Given the description of an element on the screen output the (x, y) to click on. 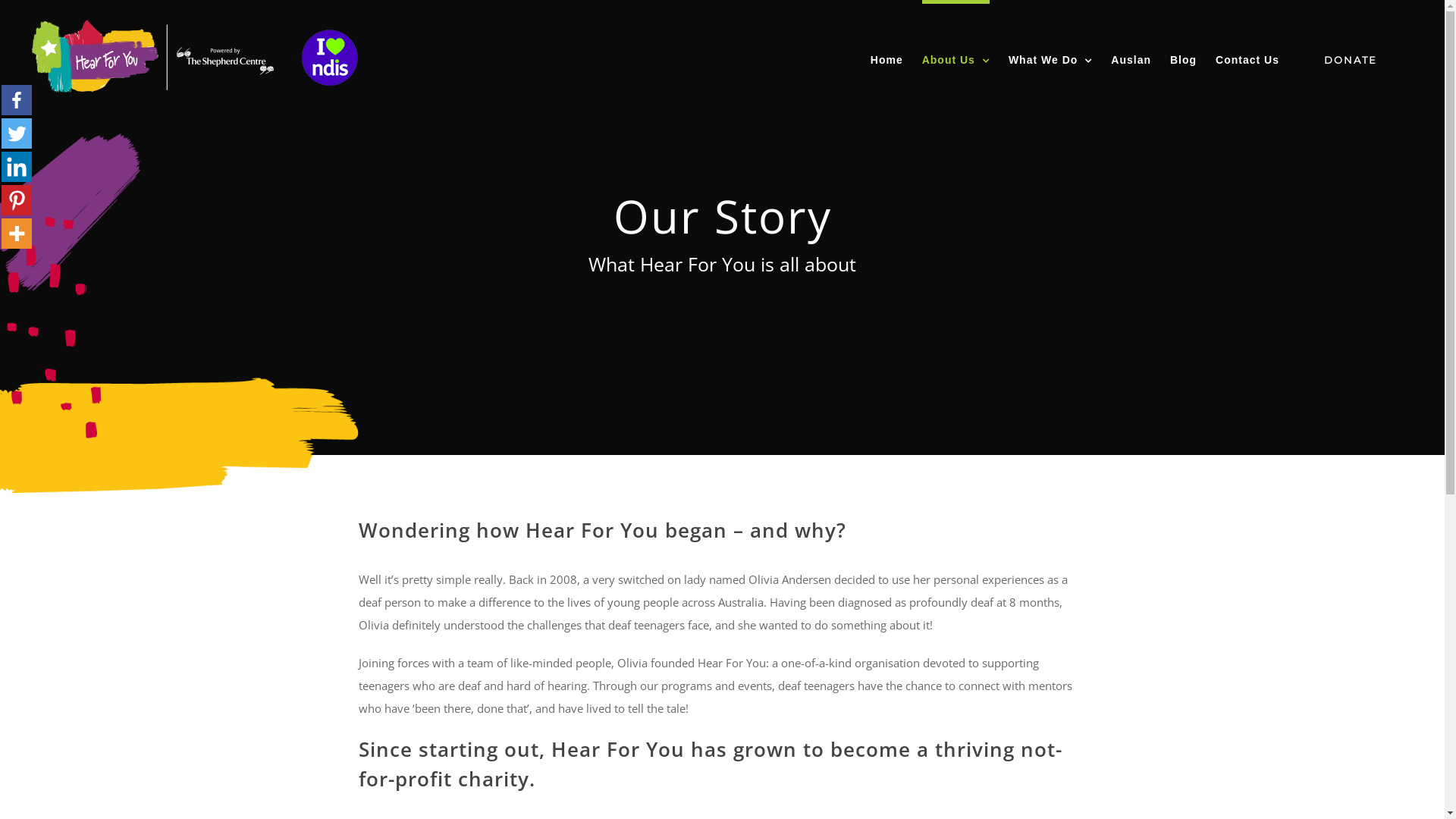
More Element type: hover (16, 233)
Facebook Element type: hover (16, 99)
DONATE Element type: text (1350, 58)
Contact Us Element type: text (1247, 58)
Twitter Element type: hover (16, 133)
Auslan Element type: text (1130, 58)
What We Do Element type: text (1050, 58)
Linkedin Element type: hover (16, 166)
Pinterest Element type: hover (16, 200)
About Us Element type: text (955, 58)
Blog Element type: text (1183, 58)
Home Element type: text (886, 58)
